Given the description of an element on the screen output the (x, y) to click on. 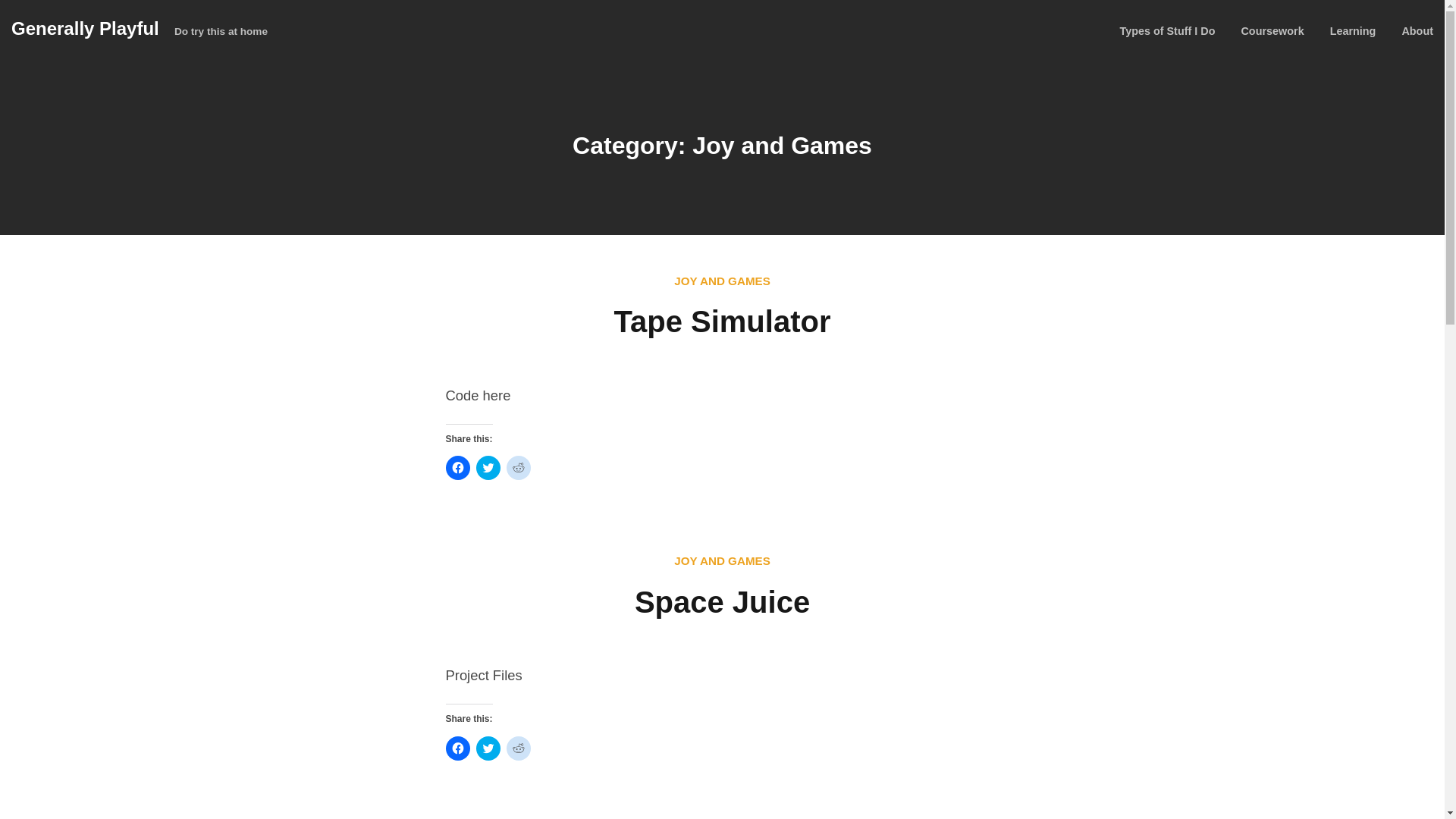
Tape Simulator (722, 321)
Coursework (1271, 30)
Click to share on Facebook (457, 467)
Click to share on Facebook (457, 748)
Space Juice (721, 602)
Click to share on Reddit (518, 748)
JOY AND GAMES (722, 560)
Generally Playful (84, 28)
Click to share on Twitter (488, 748)
Click to share on Twitter (488, 467)
